Given the description of an element on the screen output the (x, y) to click on. 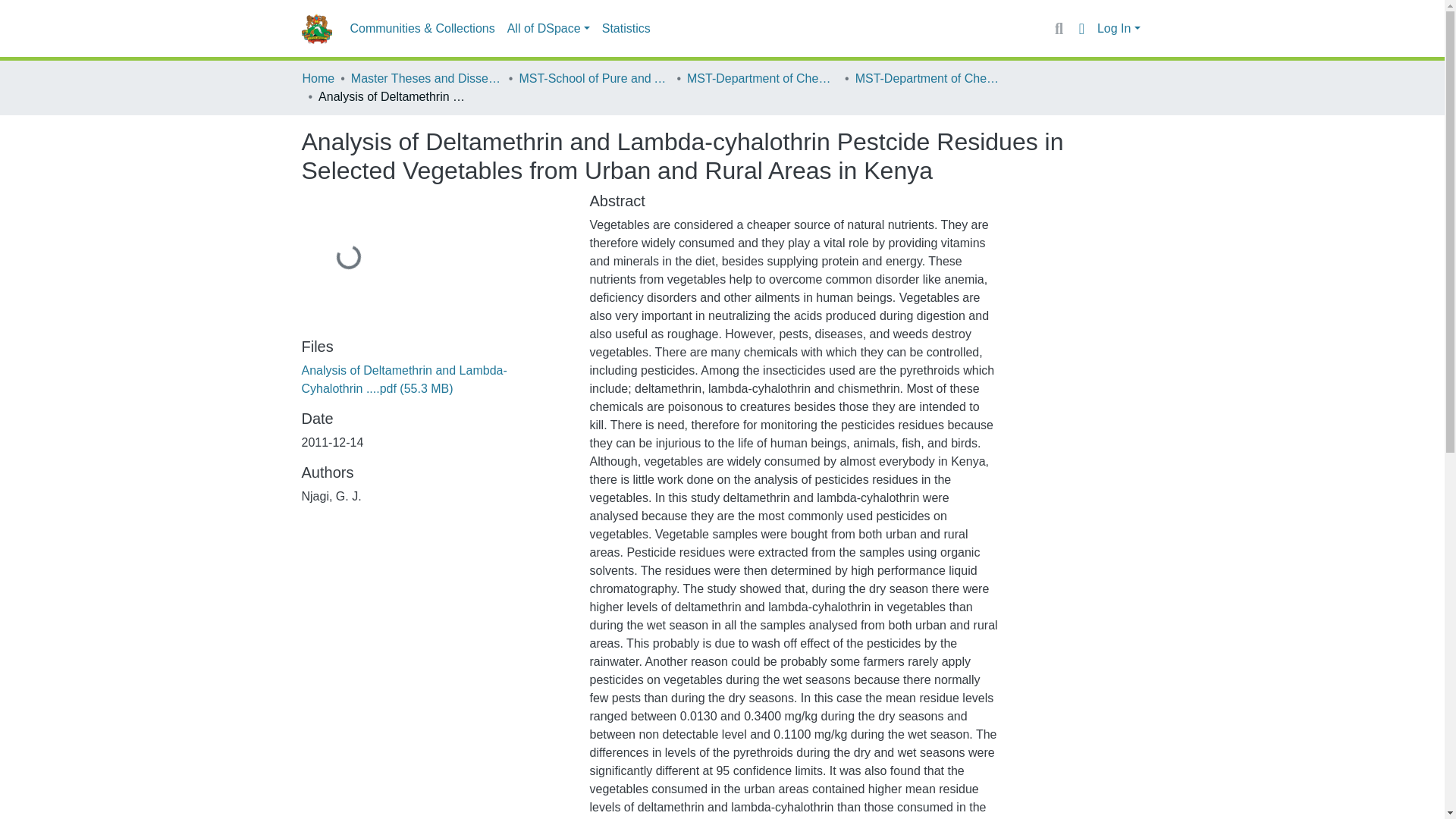
MST-Department of Chemistry (931, 78)
MST-School of Pure and Applied Sciences (593, 78)
Home (317, 78)
Statistics (625, 28)
All of DSpace (547, 28)
Language switch (1081, 28)
Log In (1118, 28)
Search (1058, 28)
MST-Department of Chemistry (762, 78)
Statistics (625, 28)
